Given the description of an element on the screen output the (x, y) to click on. 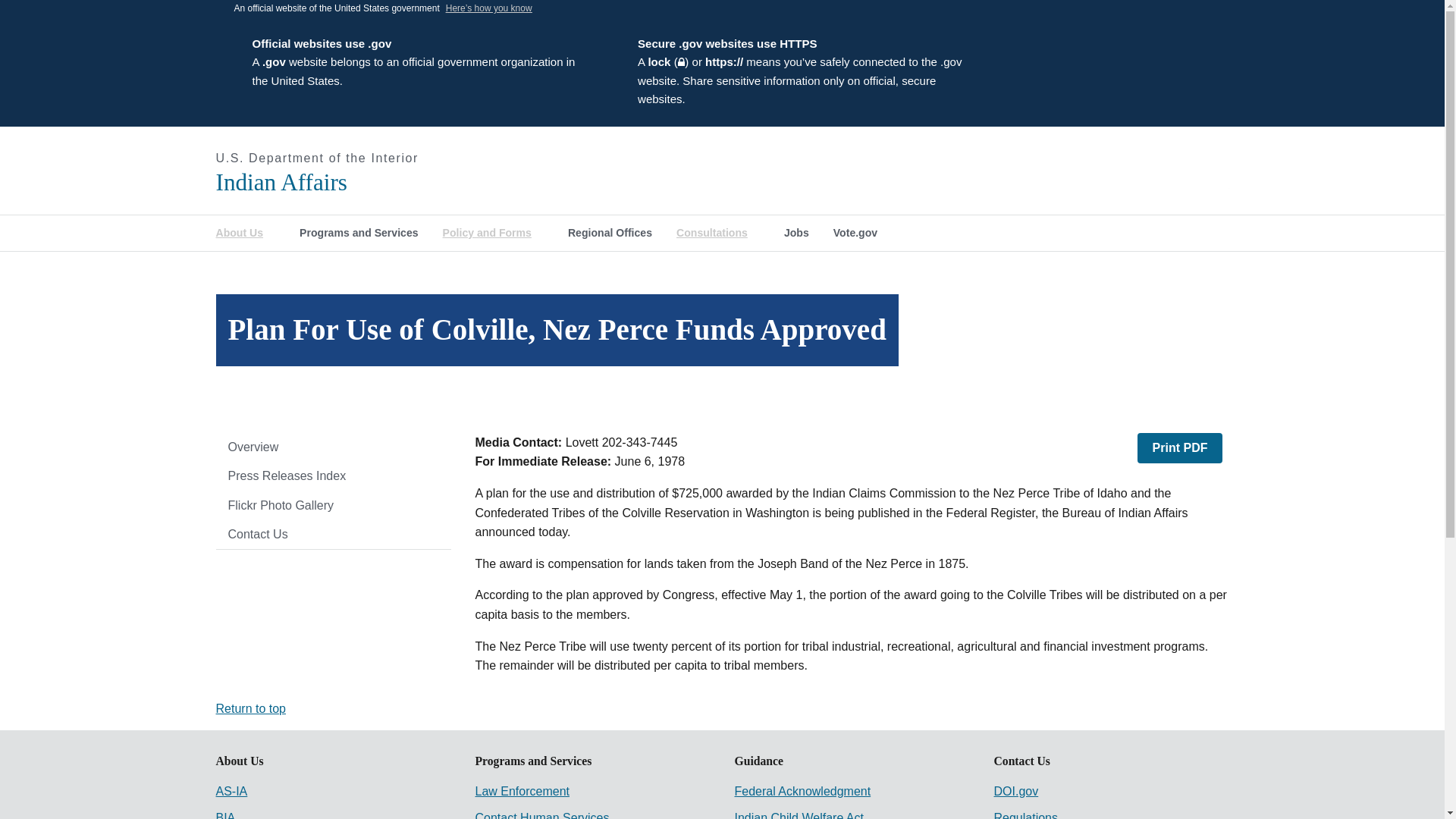
Flickr Photo Gallery (332, 505)
Regional Offices (609, 232)
Indian Child Welfare Act (798, 815)
Contact Us (332, 534)
BIA (224, 815)
Print PDF (1180, 448)
Indian Affairs (382, 182)
Regulations (1025, 815)
Contact Human Services (541, 815)
Programs and Services (358, 232)
